Given the description of an element on the screen output the (x, y) to click on. 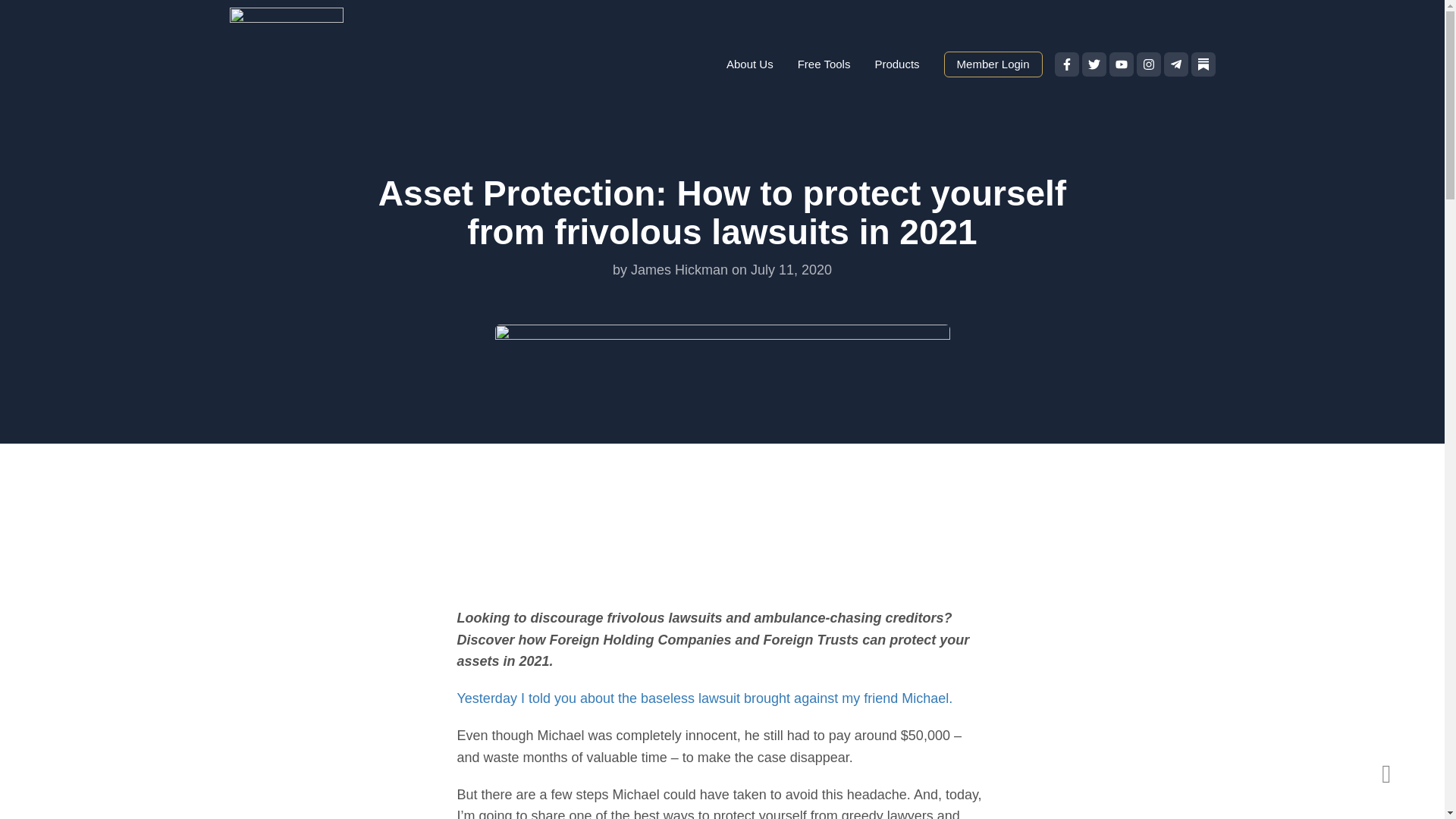
Free Tools (824, 64)
About Us (750, 64)
Member Login (992, 63)
Products (896, 64)
